Given the description of an element on the screen output the (x, y) to click on. 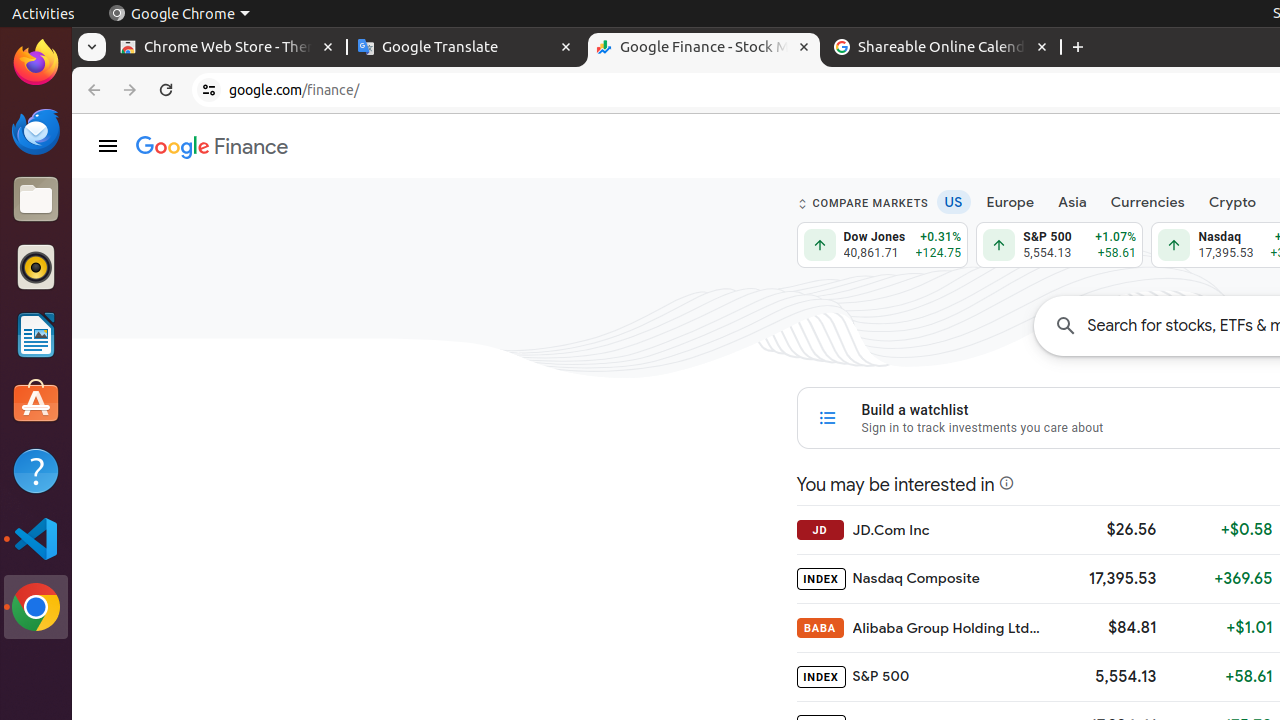
Thunderbird Mail Element type: push-button (36, 131)
Ubuntu Software Element type: push-button (36, 402)
S&P 500 5,554.13 Up by 1.07% +58.61 Element type: link (1060, 245)
US Element type: page-tab (953, 202)
Files Element type: push-button (36, 199)
